Given the description of an element on the screen output the (x, y) to click on. 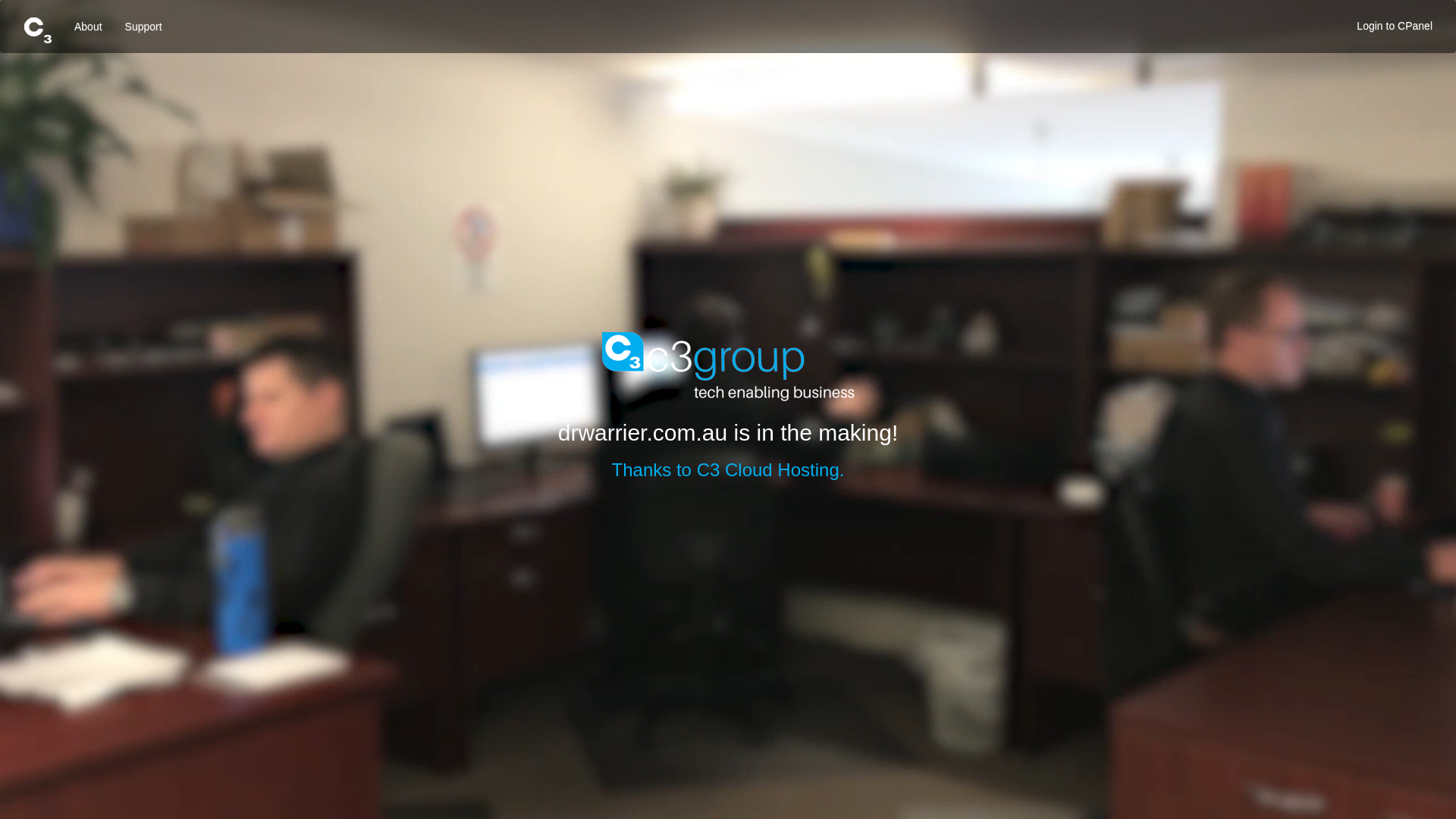
Support Element type: text (143, 26)
Login to CPanel Element type: text (1394, 25)
C3 Group Element type: hover (728, 366)
About Element type: text (87, 26)
